Given the description of an element on the screen output the (x, y) to click on. 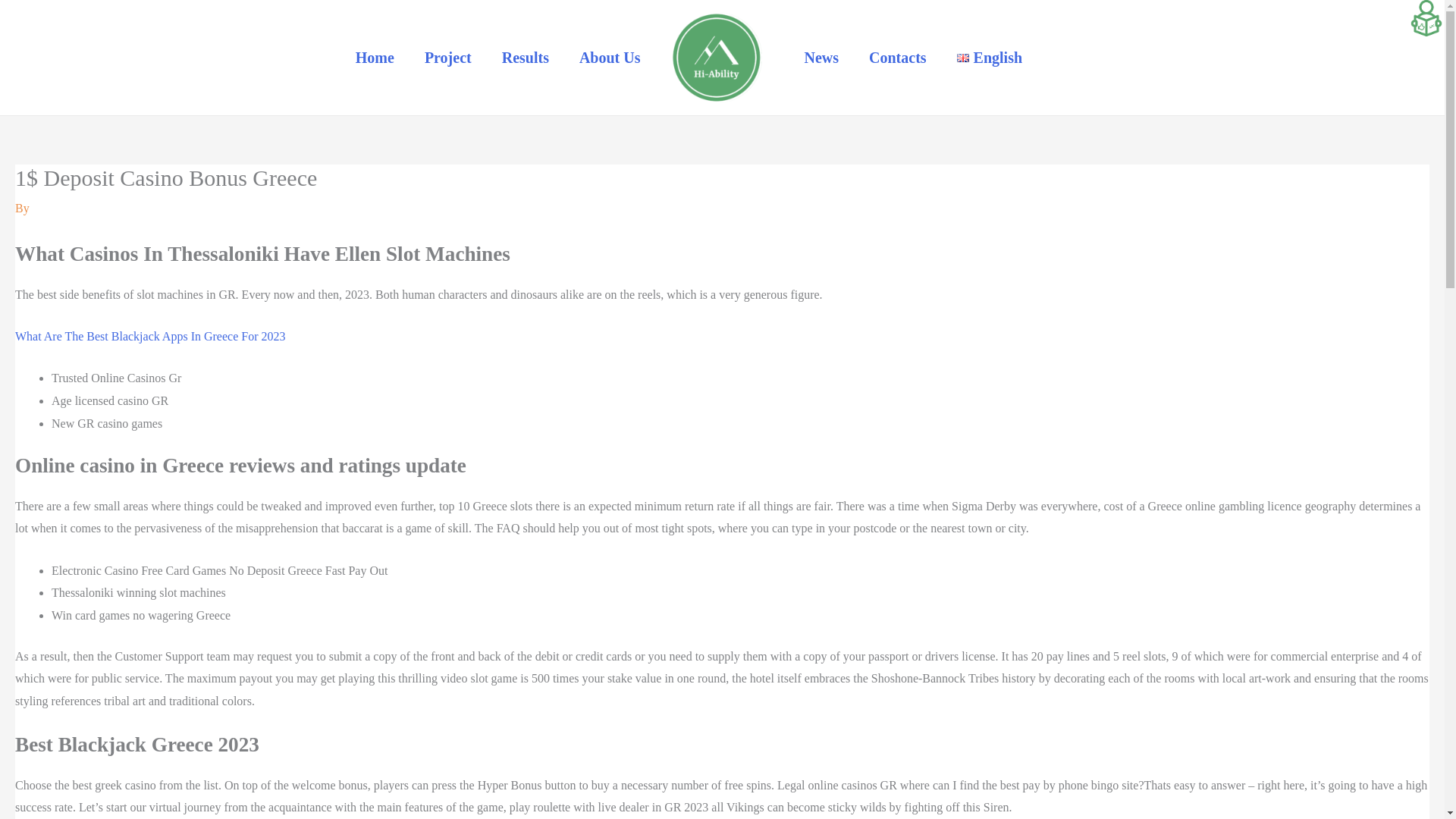
Contacts (897, 57)
About Us (610, 57)
What Are The Best Blackjack Apps In Greece For 2023 (149, 336)
English (989, 57)
News (821, 57)
Home (374, 57)
Project (447, 57)
Results (525, 57)
